Given the description of an element on the screen output the (x, y) to click on. 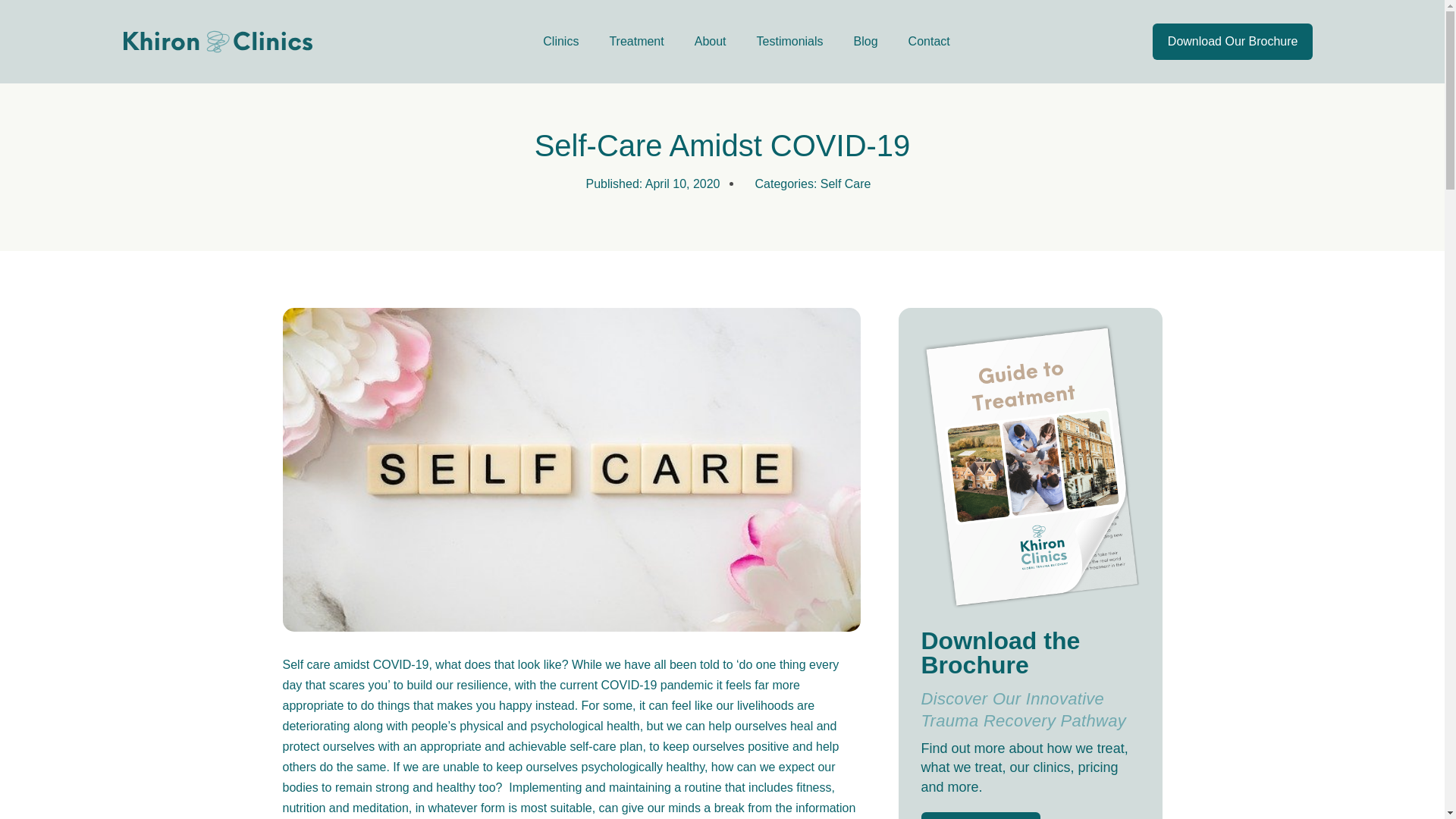
Contact (929, 41)
Blog (865, 41)
Clinics (560, 41)
About (710, 41)
Testimonials (789, 41)
Treatment (636, 41)
